Given the description of an element on the screen output the (x, y) to click on. 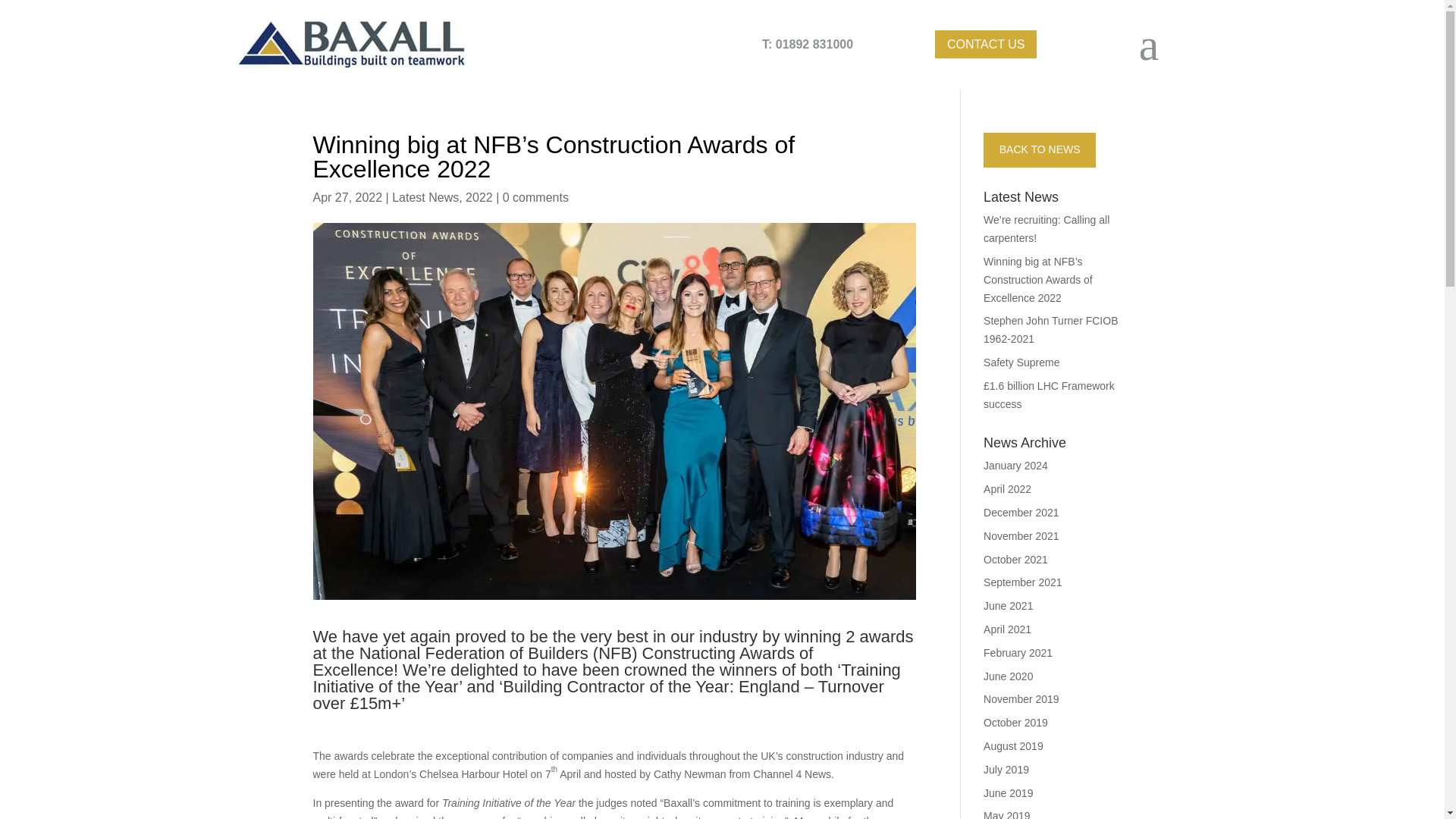
Search (39, 9)
